Given the description of an element on the screen output the (x, y) to click on. 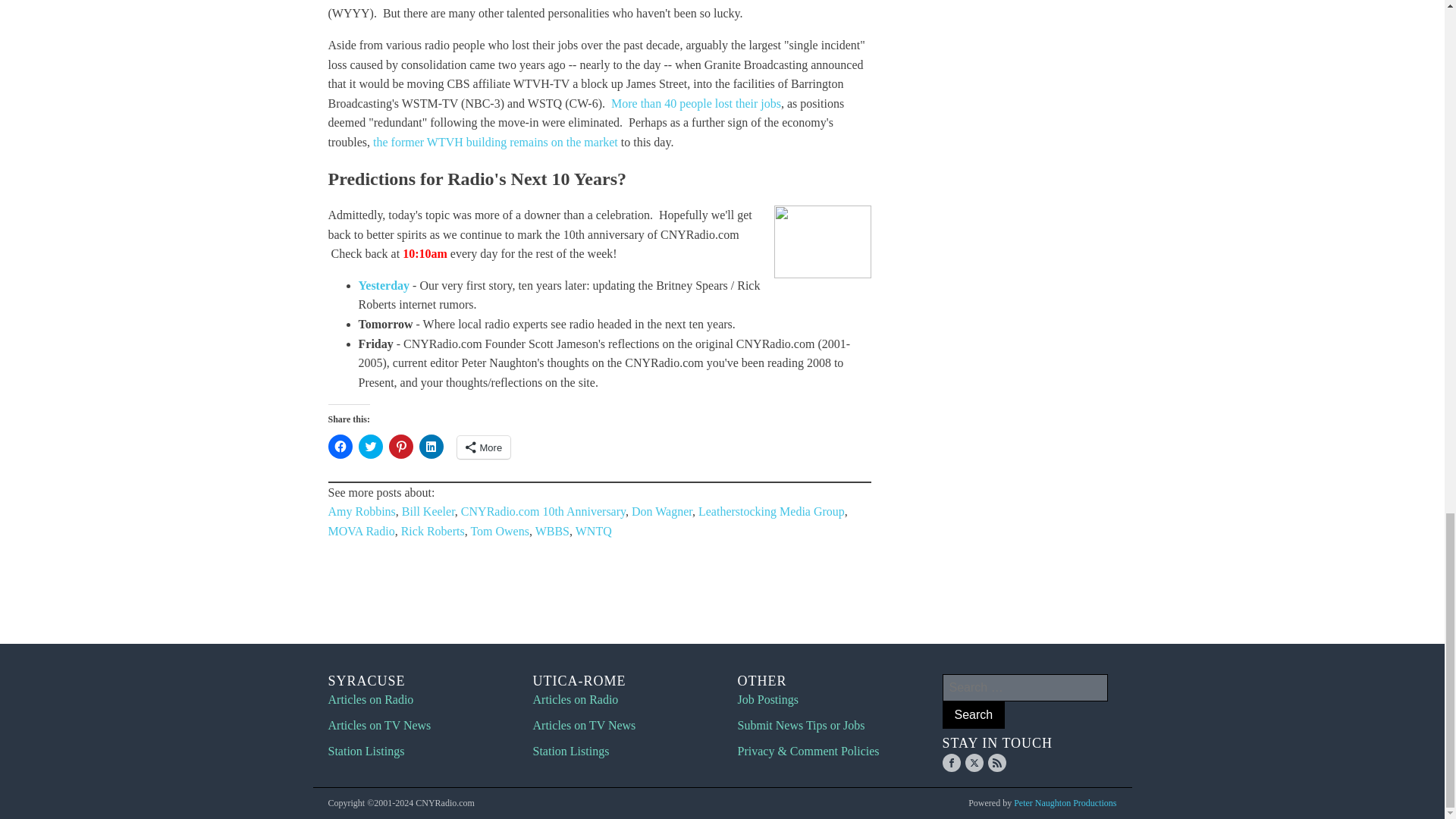
Click to share on Twitter (369, 446)
Search (973, 714)
the former WTVH building remains on the market (494, 141)
More (484, 446)
Search (973, 714)
More than 40 people lost their jobs (695, 103)
Click to share on LinkedIn (430, 446)
Yesterday (383, 285)
Click to share on Facebook (339, 446)
Click to share on Pinterest (400, 446)
